Given the description of an element on the screen output the (x, y) to click on. 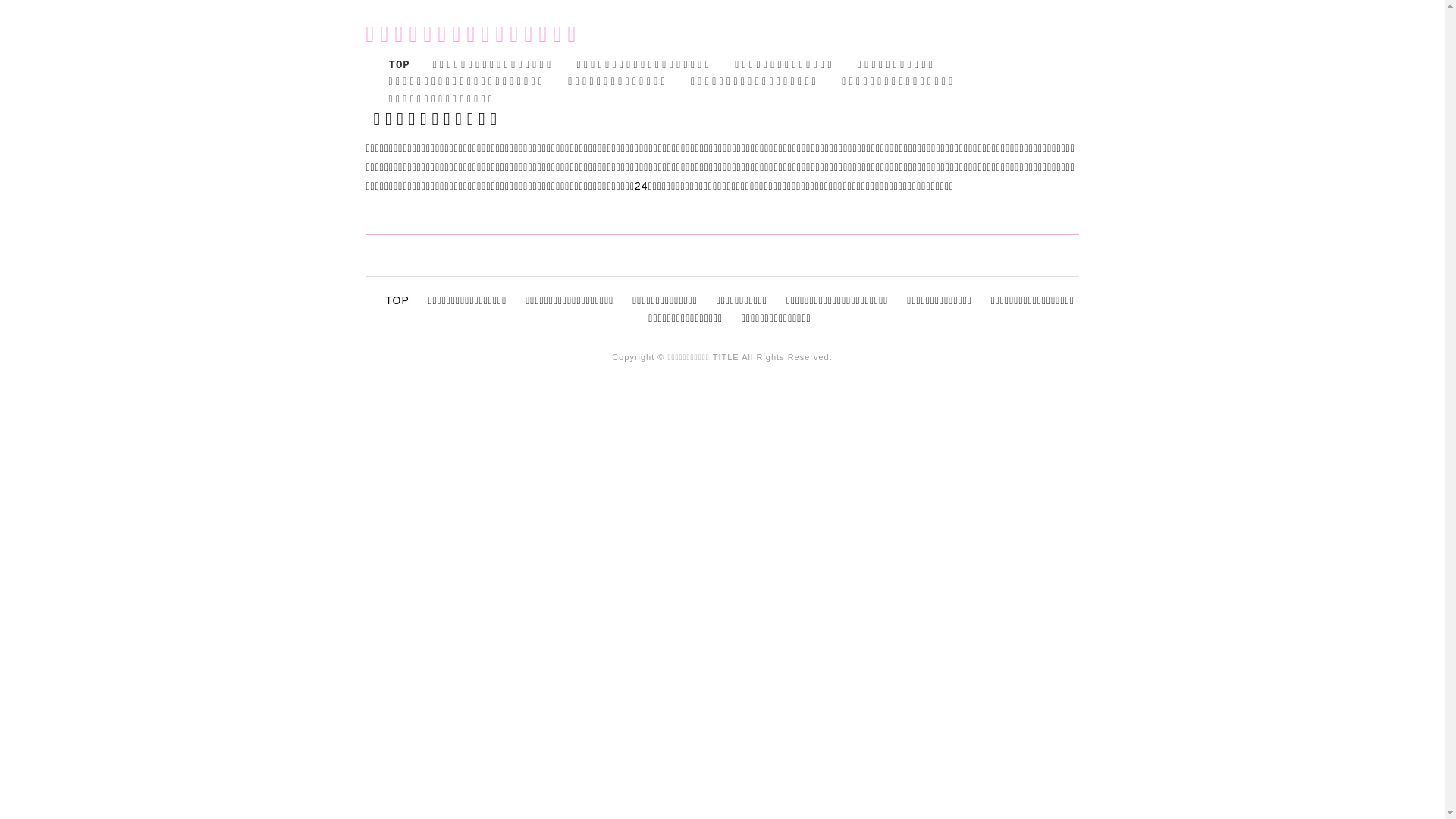
TOP Element type: text (398, 64)
TOP Element type: text (396, 300)
